Given the description of an element on the screen output the (x, y) to click on. 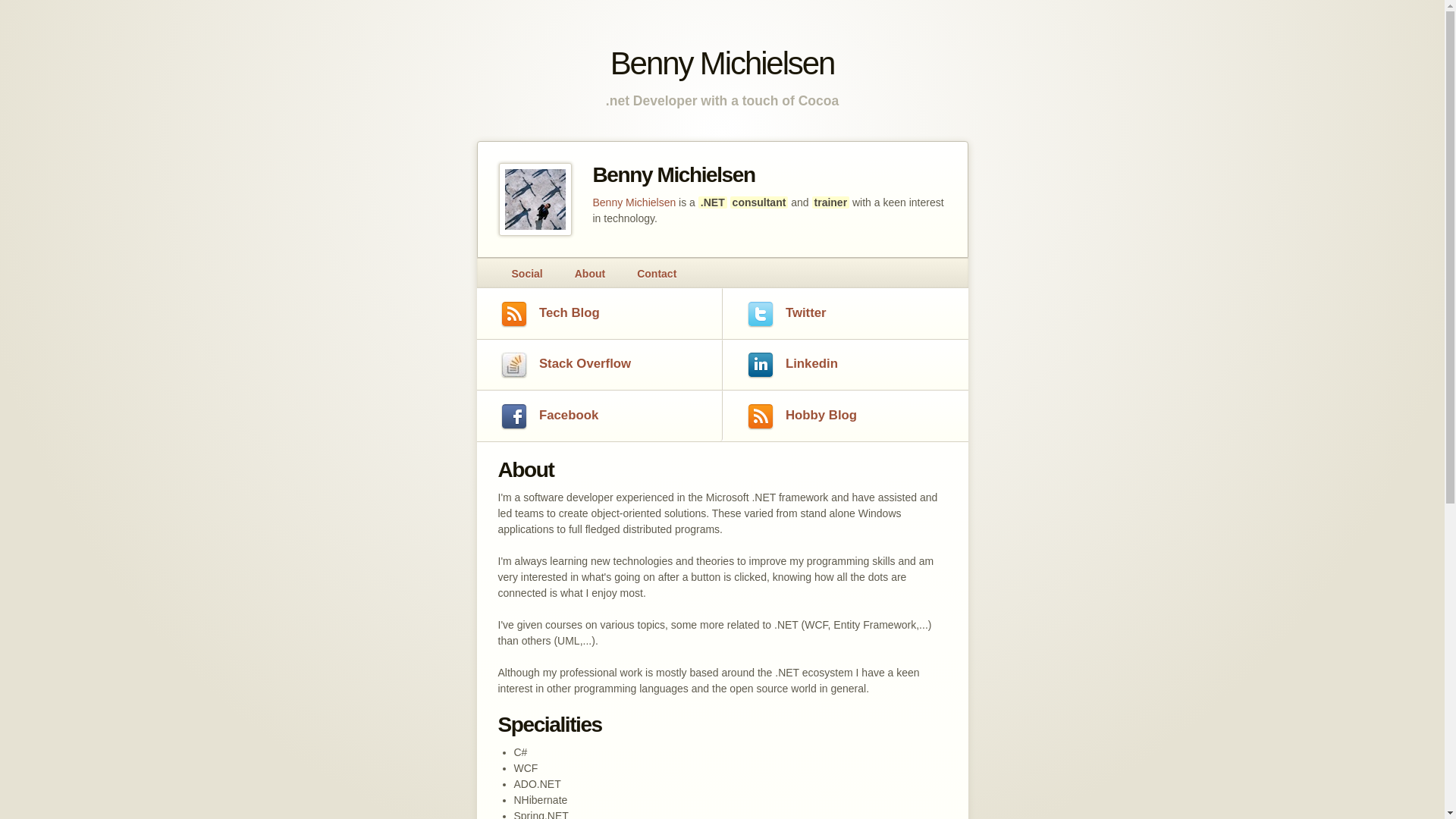
Facebook Element type: text (598, 415)
Contact Element type: text (656, 274)
About Element type: text (589, 274)
Social Element type: text (526, 274)
Hobby Blog Element type: text (844, 415)
Tech Blog Element type: text (598, 313)
Linkedin Element type: text (844, 364)
Benny Michielsen Element type: text (634, 202)
Twitter Element type: text (844, 313)
Stack Overflow Element type: text (598, 364)
